Given the description of an element on the screen output the (x, y) to click on. 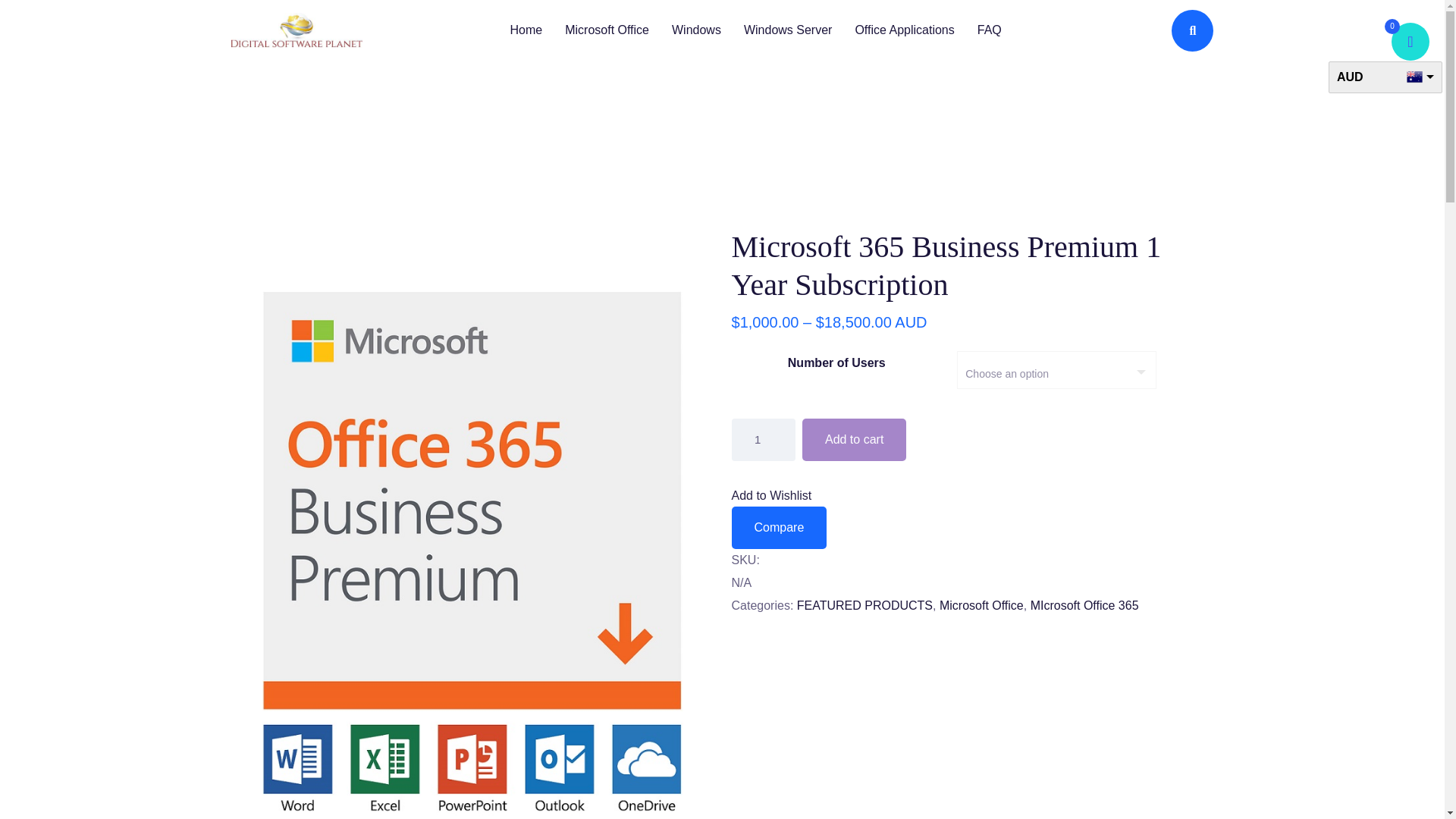
AUD (1385, 77)
Windows Server (787, 30)
Windows (696, 30)
Home (525, 30)
Microsoft Office (607, 30)
1 (762, 439)
Office Applications (904, 30)
